Given the description of an element on the screen output the (x, y) to click on. 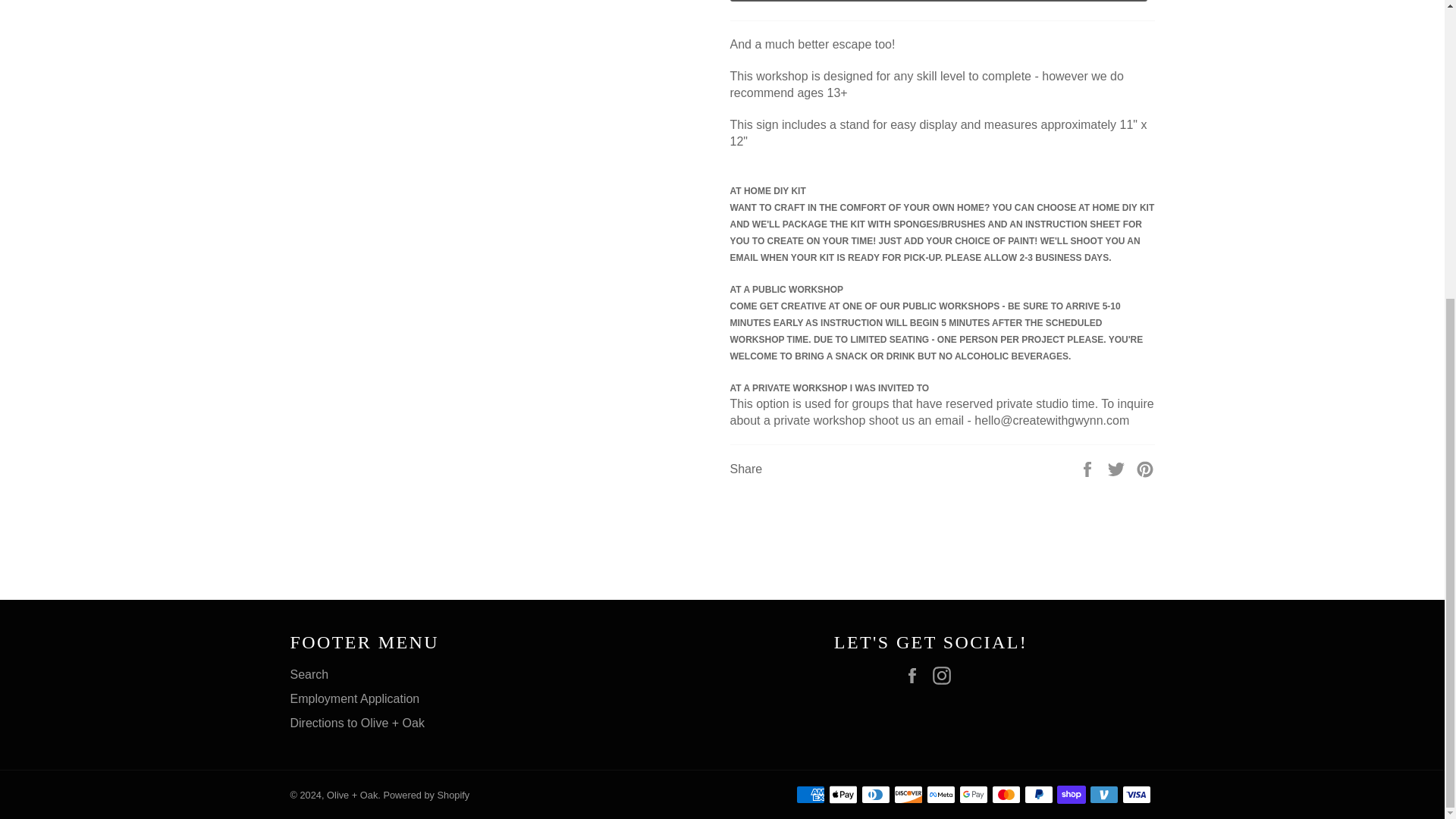
Share on Facebook (1088, 468)
Pin on Pinterest (1144, 468)
Tweet on Twitter (1117, 468)
